Given the description of an element on the screen output the (x, y) to click on. 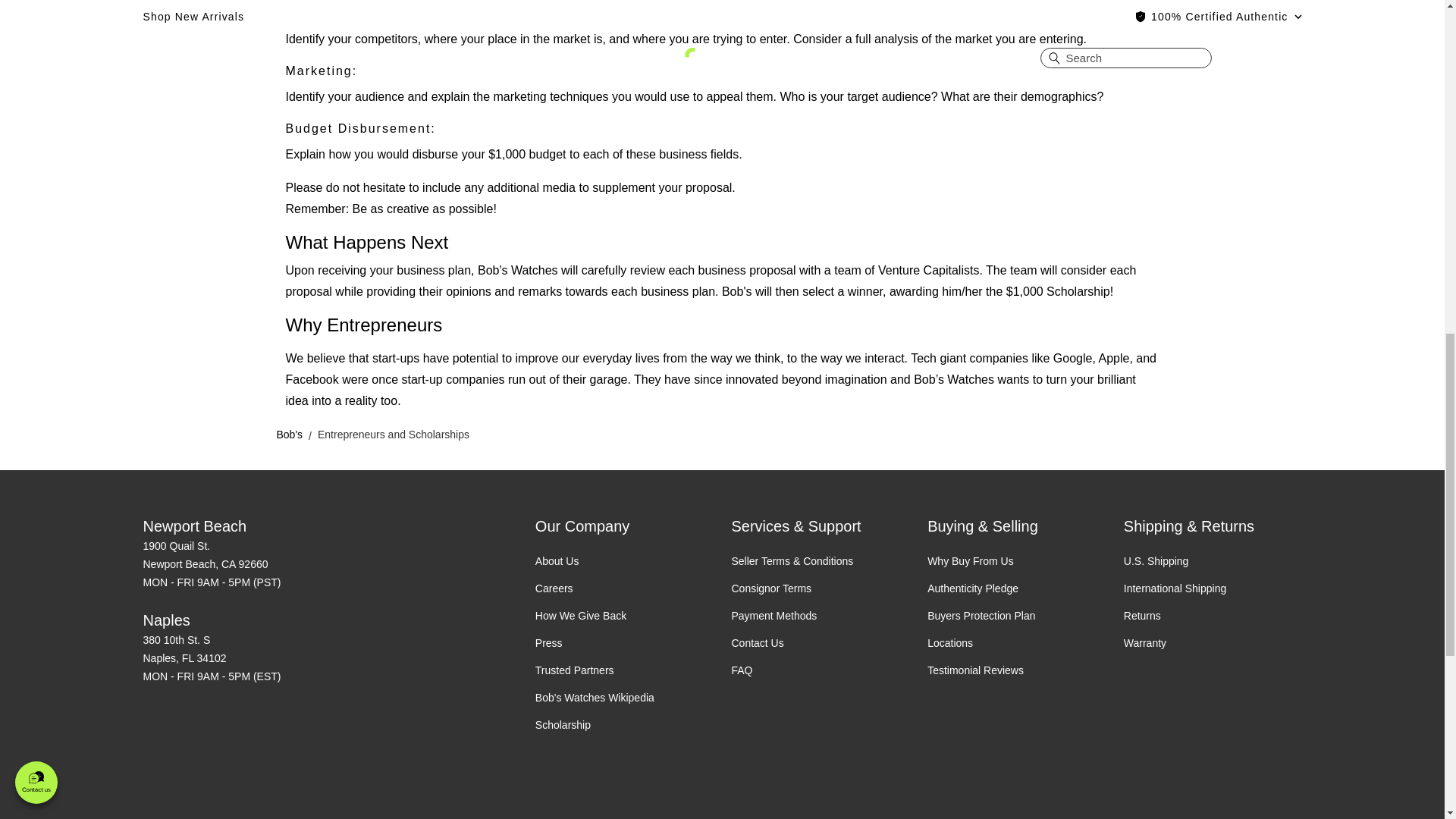
scholarship (563, 725)
